Given the description of an element on the screen output the (x, y) to click on. 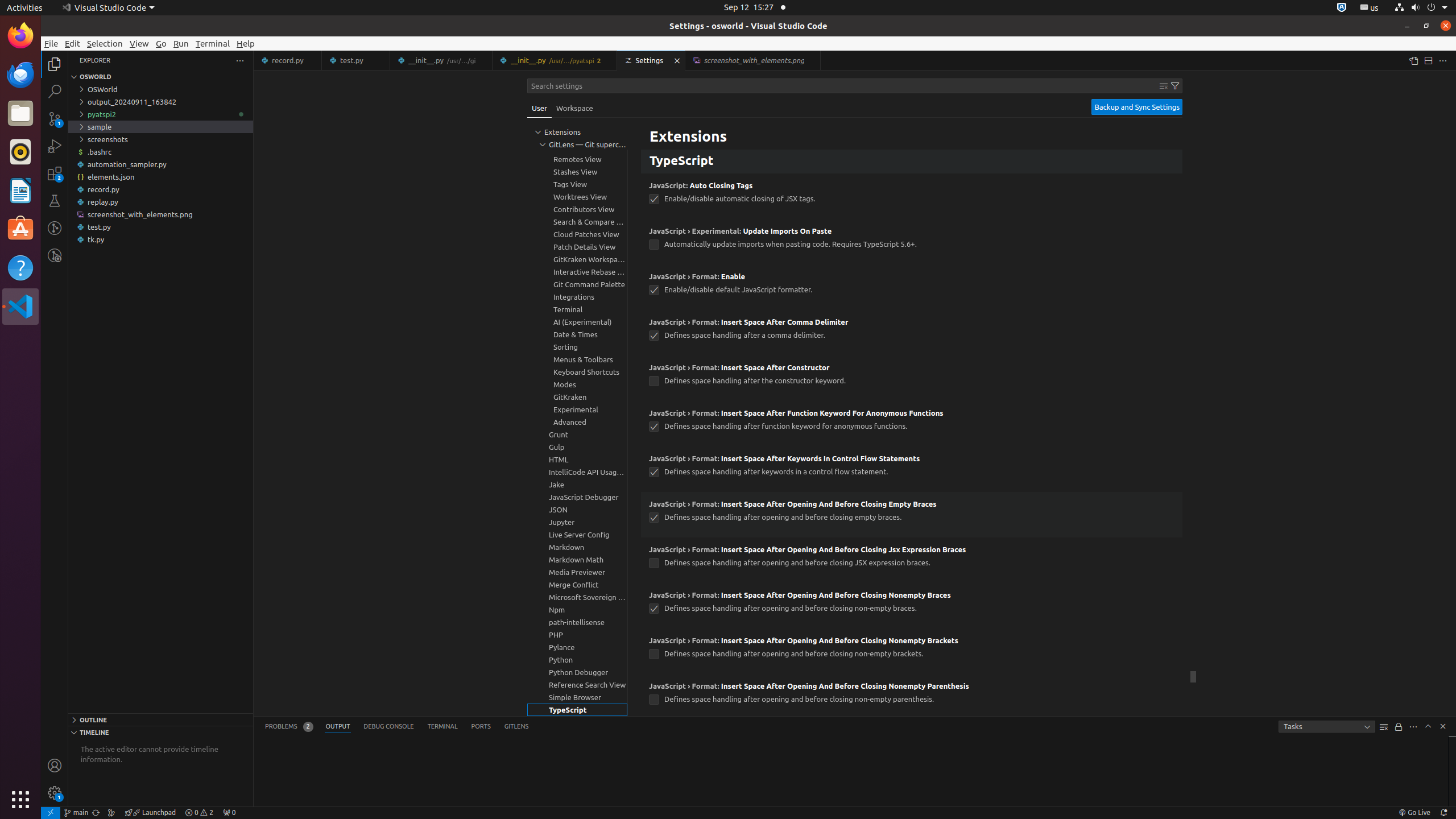
Git Command Palette, group Element type: tree-item (577, 284)
Backup and Sync Settings Element type: push-button (1136, 106)
Debug Console (Ctrl+Shift+Y) Element type: page-tab (388, 726)
Selection Element type: push-button (104, 43)
